Given the description of an element on the screen output the (x, y) to click on. 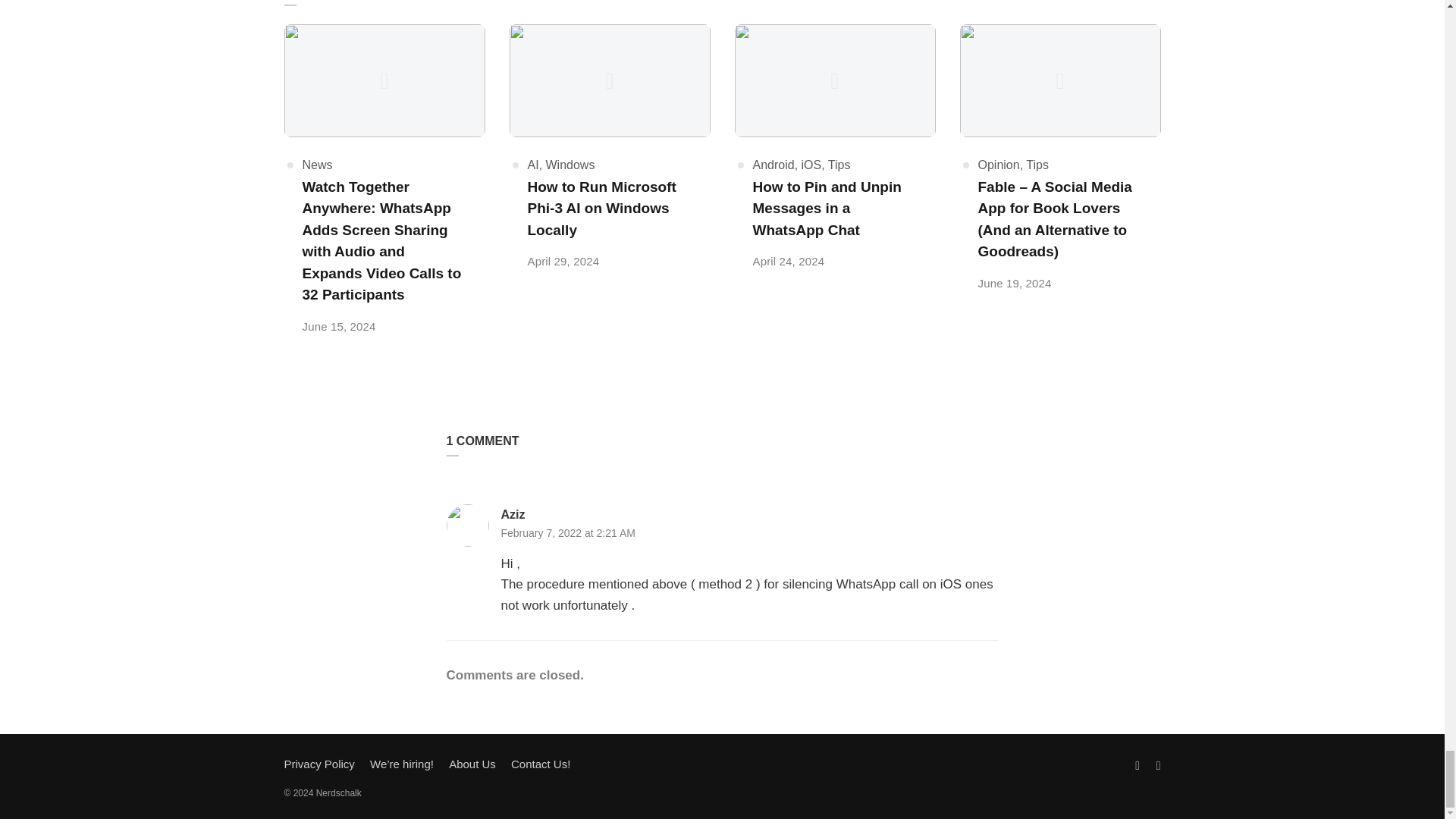
News (316, 164)
